Given the description of an element on the screen output the (x, y) to click on. 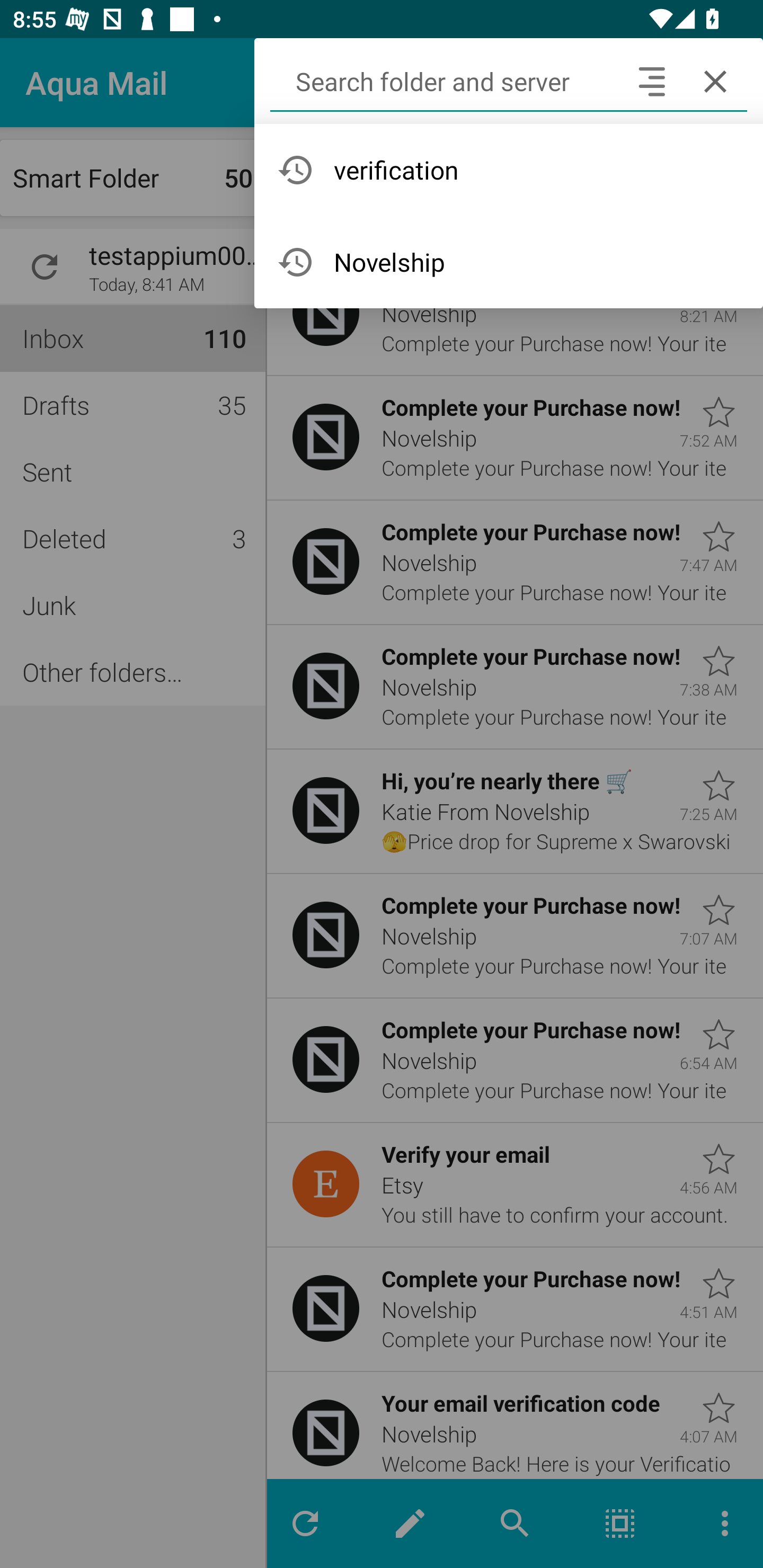
   Search folder and server (444, 81)
Search headers and text (651, 81)
Cancel (714, 81)
